Given the description of an element on the screen output the (x, y) to click on. 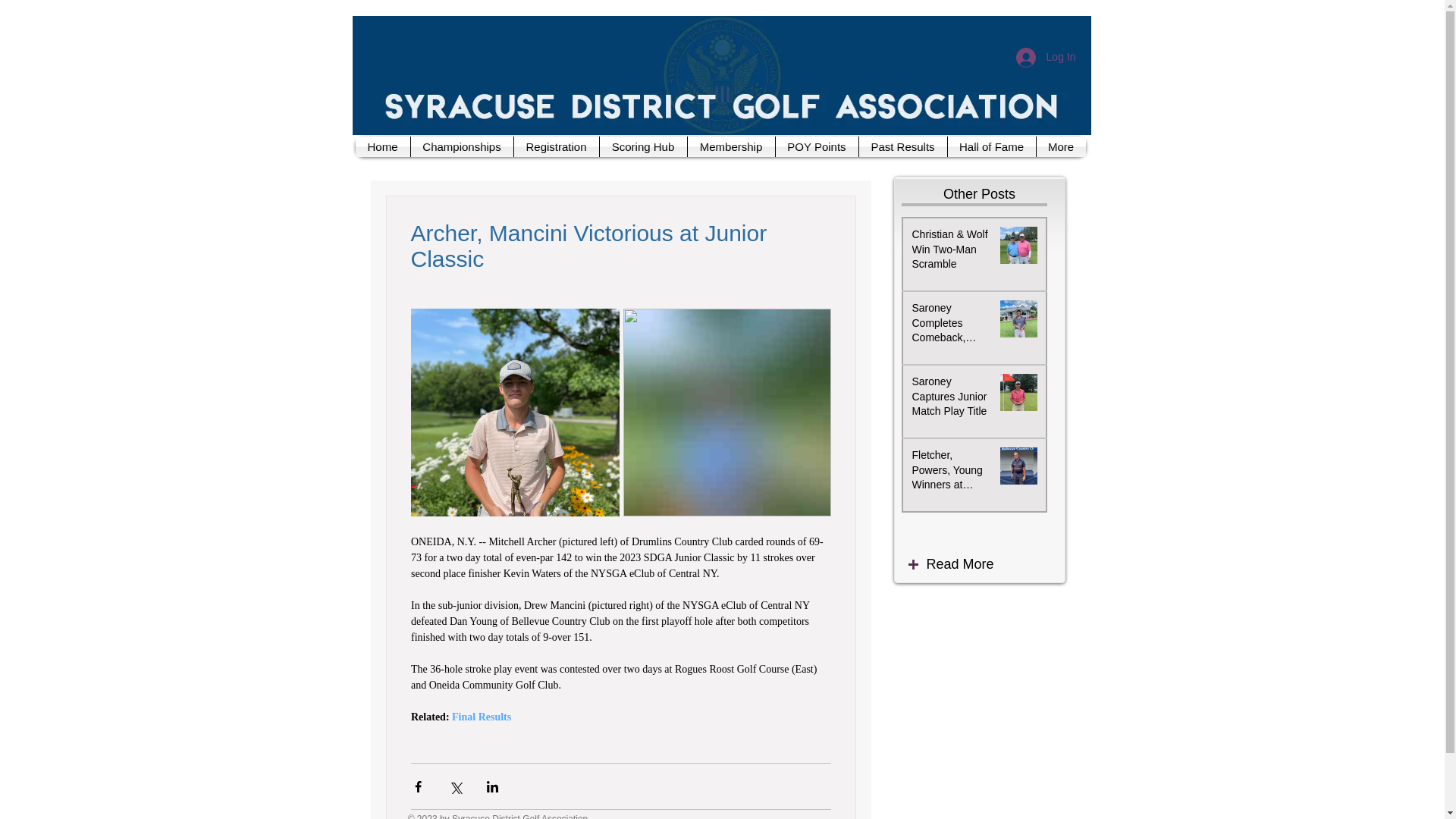
Fletcher, Powers, Young Winners at CNYSG Match Play (951, 472)
Read More (992, 564)
Past Results (902, 146)
Final Results (481, 716)
Championships (461, 146)
Membership (730, 146)
Scoring Hub (641, 146)
Home (382, 146)
Log In (1046, 57)
Saroney Captures Junior Match Play Title (951, 399)
